Given the description of an element on the screen output the (x, y) to click on. 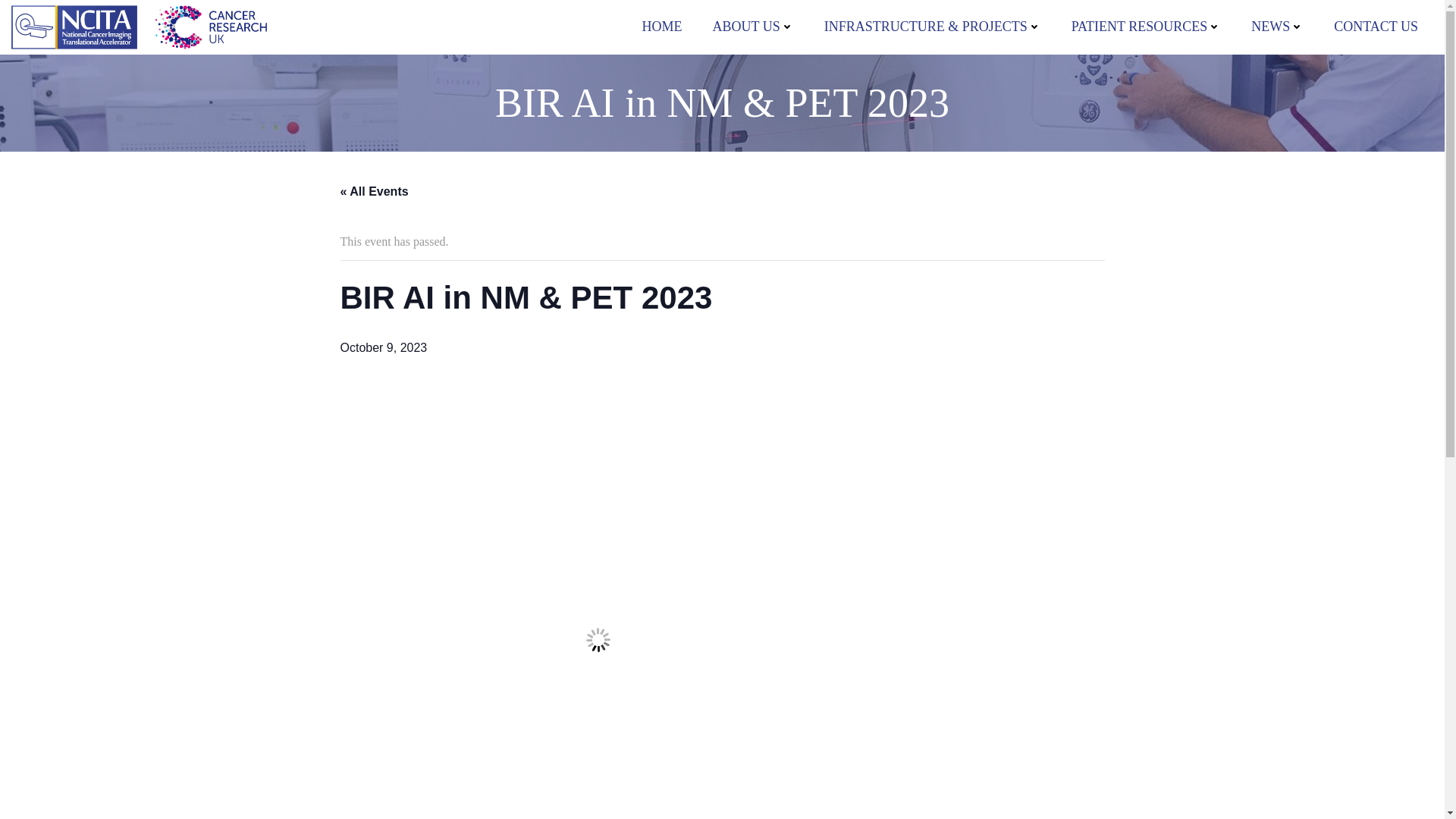
ABOUT US (752, 26)
CONTACT US (1375, 26)
NEWS (1276, 26)
HOME (661, 26)
PATIENT RESOURCES (1146, 26)
